Given the description of an element on the screen output the (x, y) to click on. 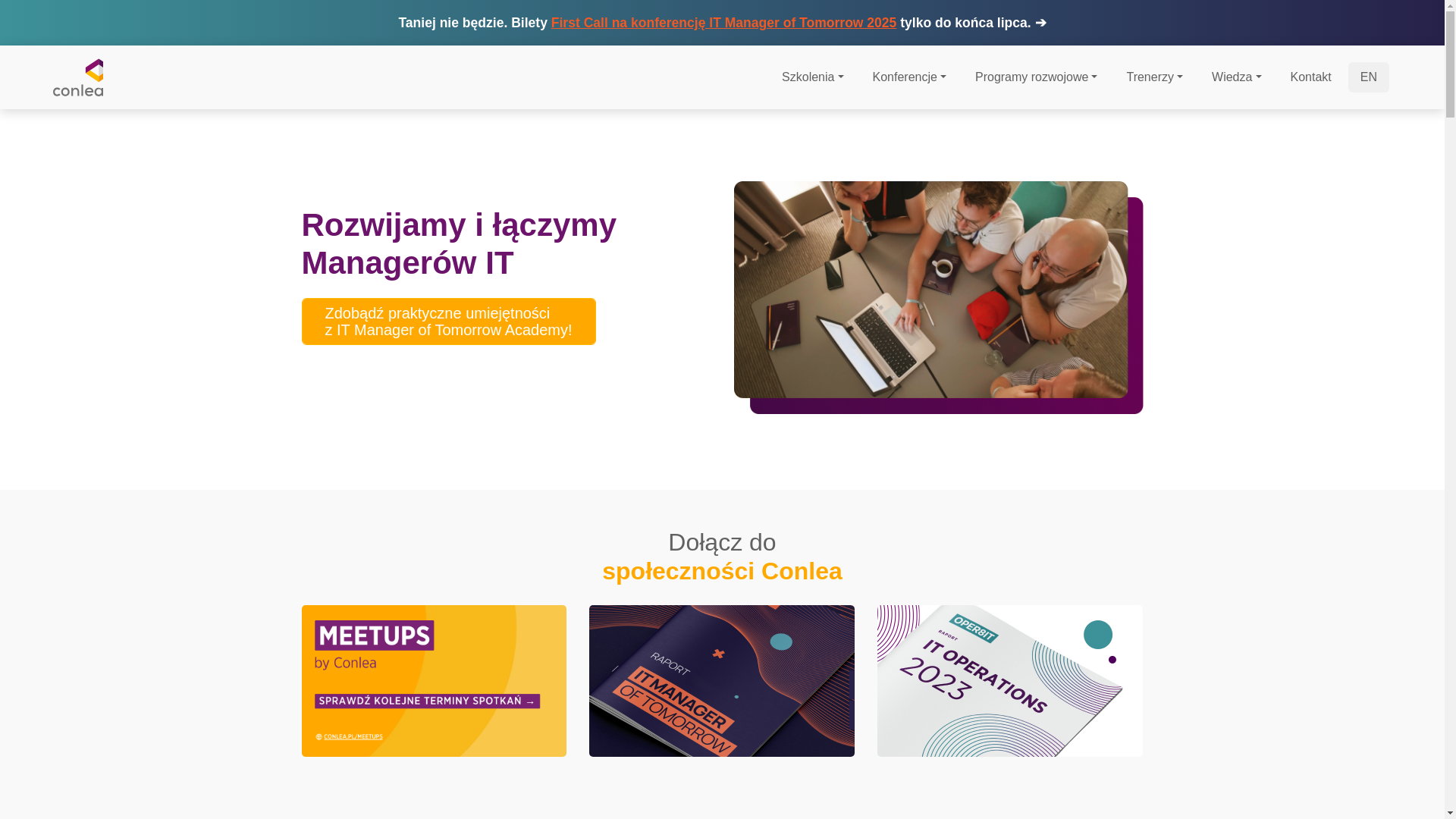
Wiedza (1235, 77)
EN (1368, 77)
Trenerzy (1154, 77)
Konferencje (909, 77)
Szkolenia (813, 77)
Programy rozwojowe (1035, 77)
Kontakt (1310, 77)
